Given the description of an element on the screen output the (x, y) to click on. 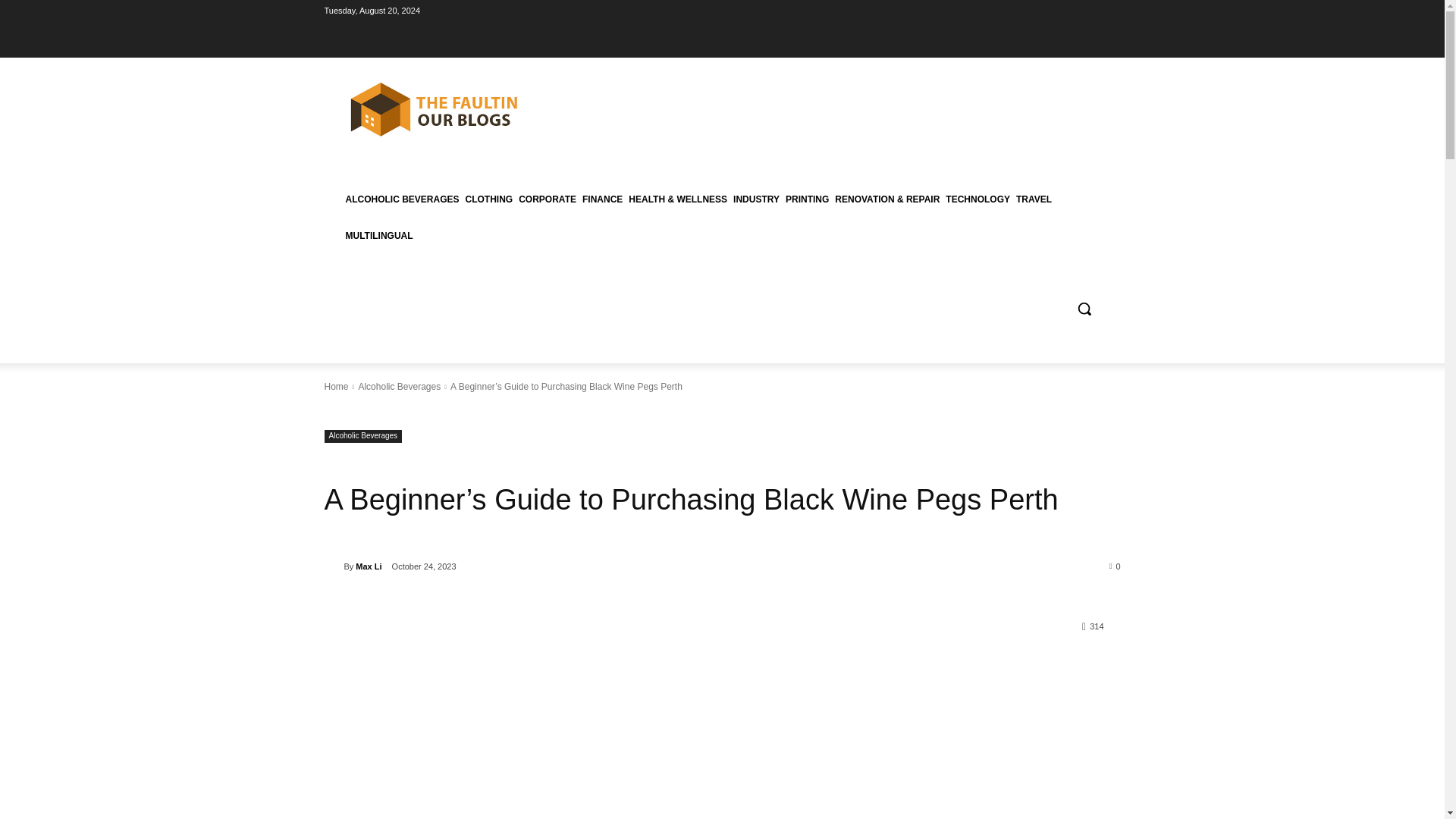
ALCOHOLIC BEVERAGES (402, 198)
CLOTHING (489, 198)
Max Li (333, 566)
PRINTING (807, 198)
Alcoholic Beverages (399, 386)
Max Li (368, 566)
0 (1115, 565)
MULTILINGUAL (379, 235)
INDUSTRY (756, 198)
Alcoholic Beverages (363, 436)
